Given the description of an element on the screen output the (x, y) to click on. 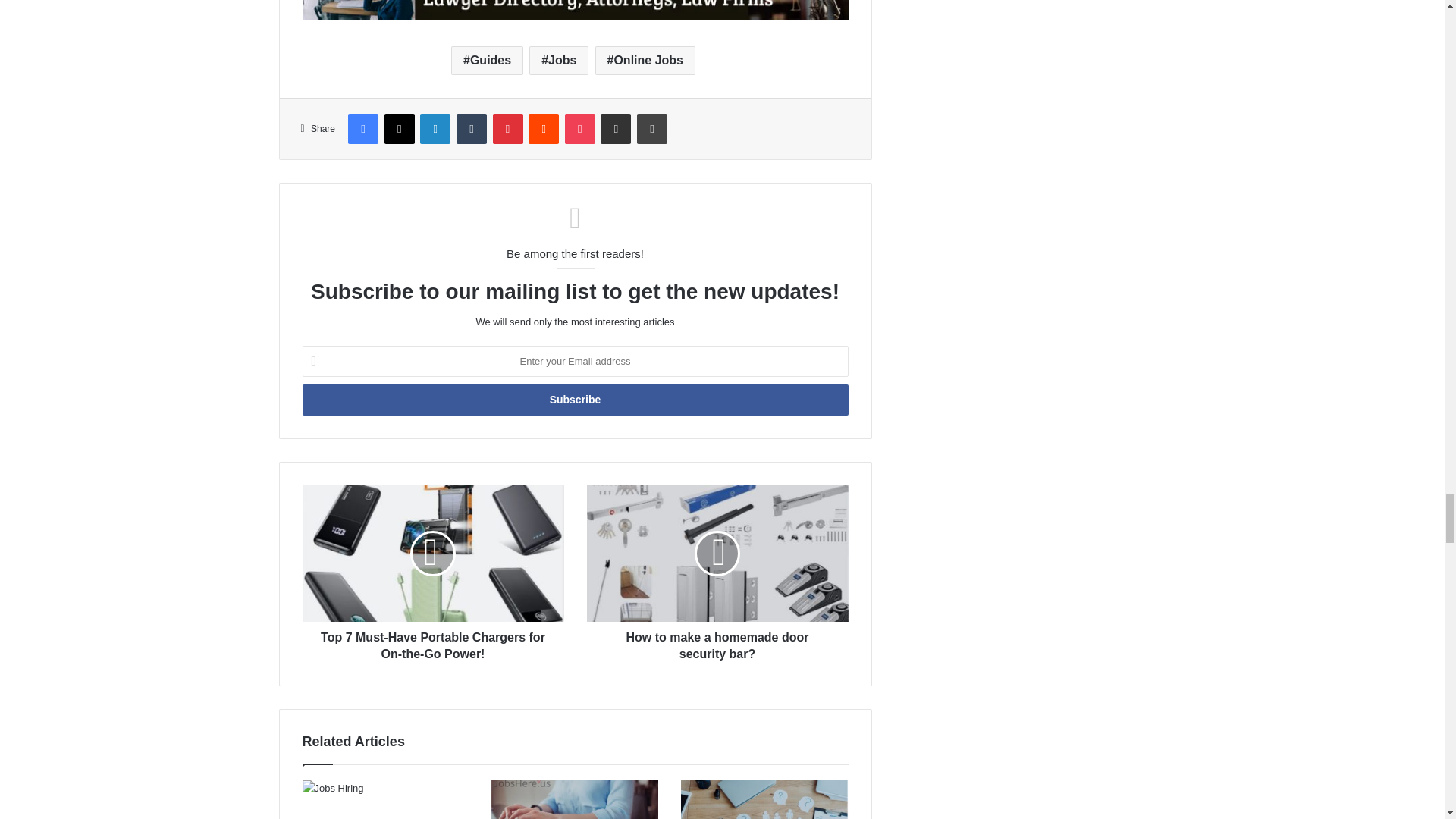
Subscribe (574, 399)
